Given the description of an element on the screen output the (x, y) to click on. 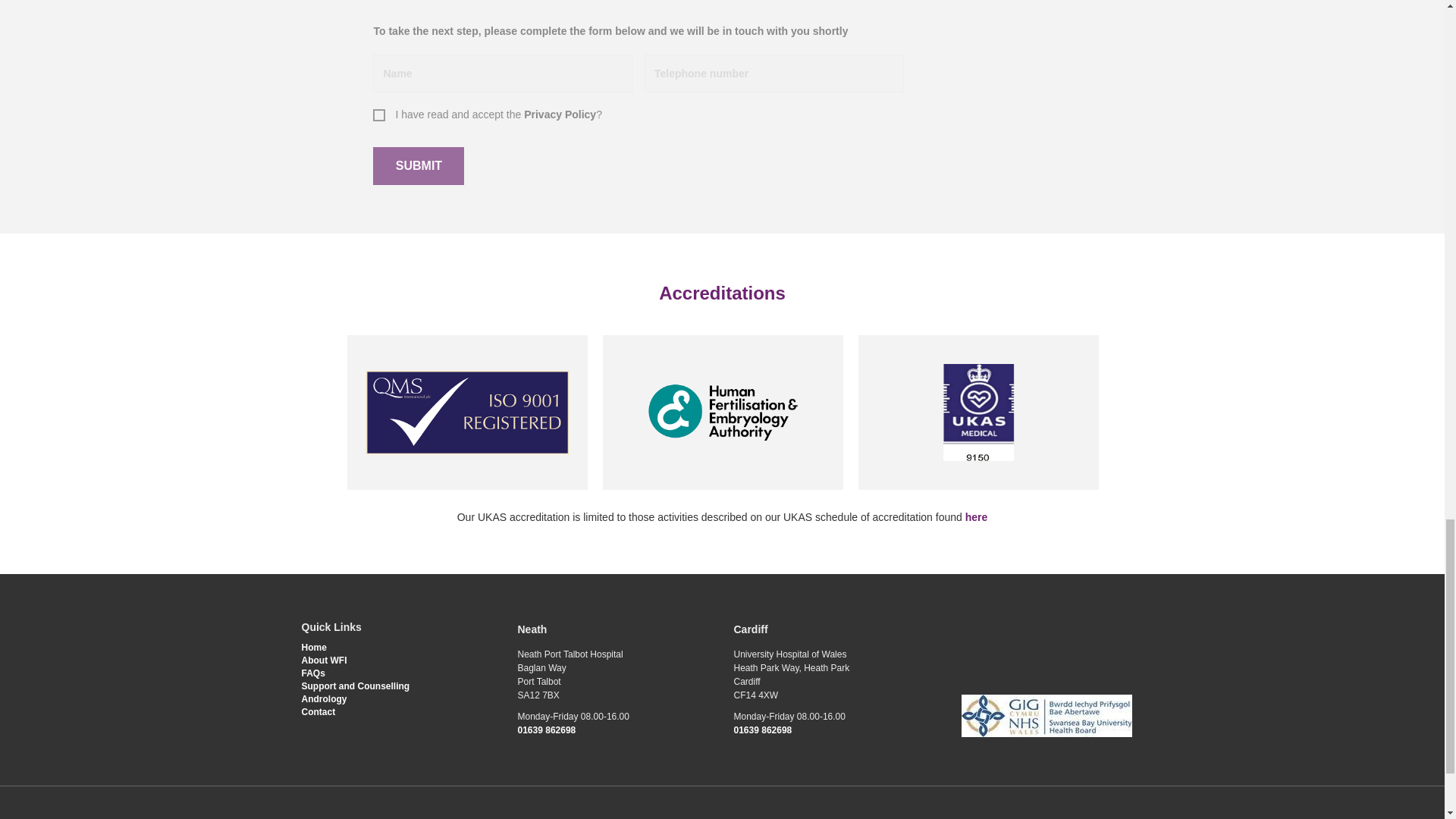
1 (377, 113)
